Given the description of an element on the screen output the (x, y) to click on. 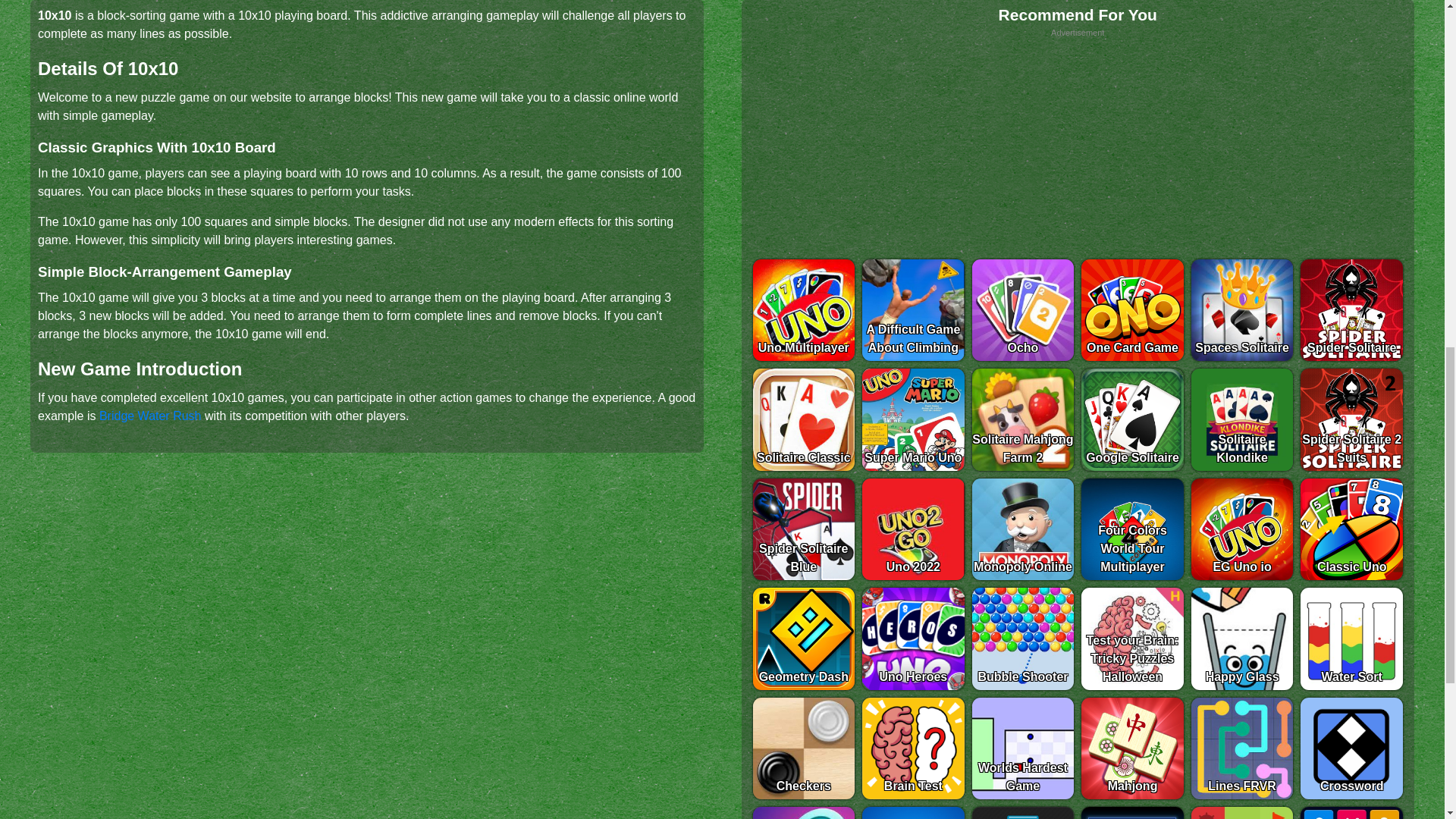
Bridge Water Rush (150, 415)
One Card Game (1132, 310)
Uno Multiplayer (804, 310)
Ocho (1023, 310)
A Difficult Game About Climbing (913, 310)
